Given the description of an element on the screen output the (x, y) to click on. 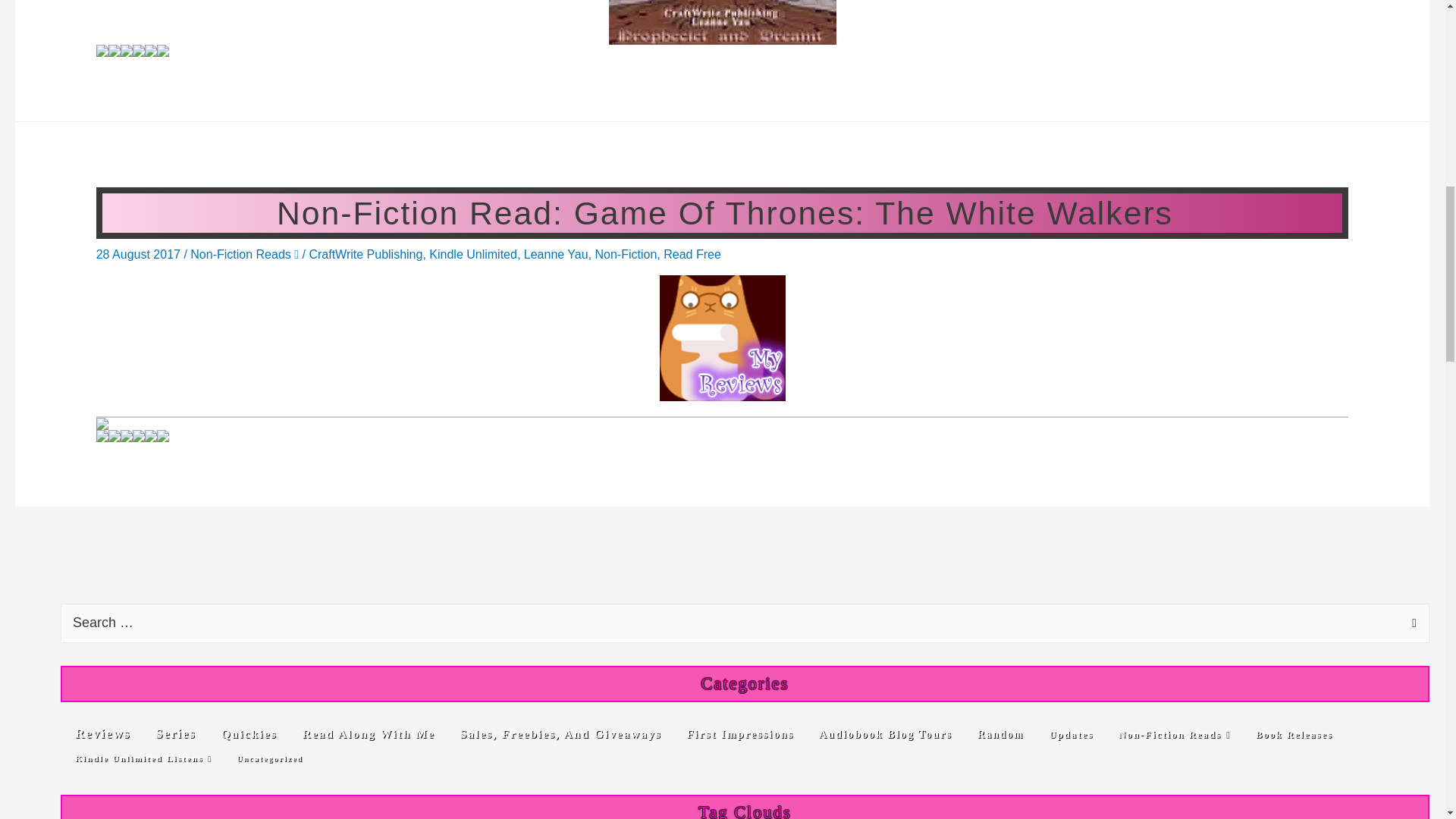
Read Free (691, 254)
Share by Email (138, 50)
Non-Fiction Read: Game Of Thrones: The White Walkers (722, 213)
CraftWrite Publishing (365, 254)
Leanne Yau (556, 254)
Kindle Unlimited (472, 254)
Non-Fiction (626, 254)
Share by Email (138, 435)
